Given the description of an element on the screen output the (x, y) to click on. 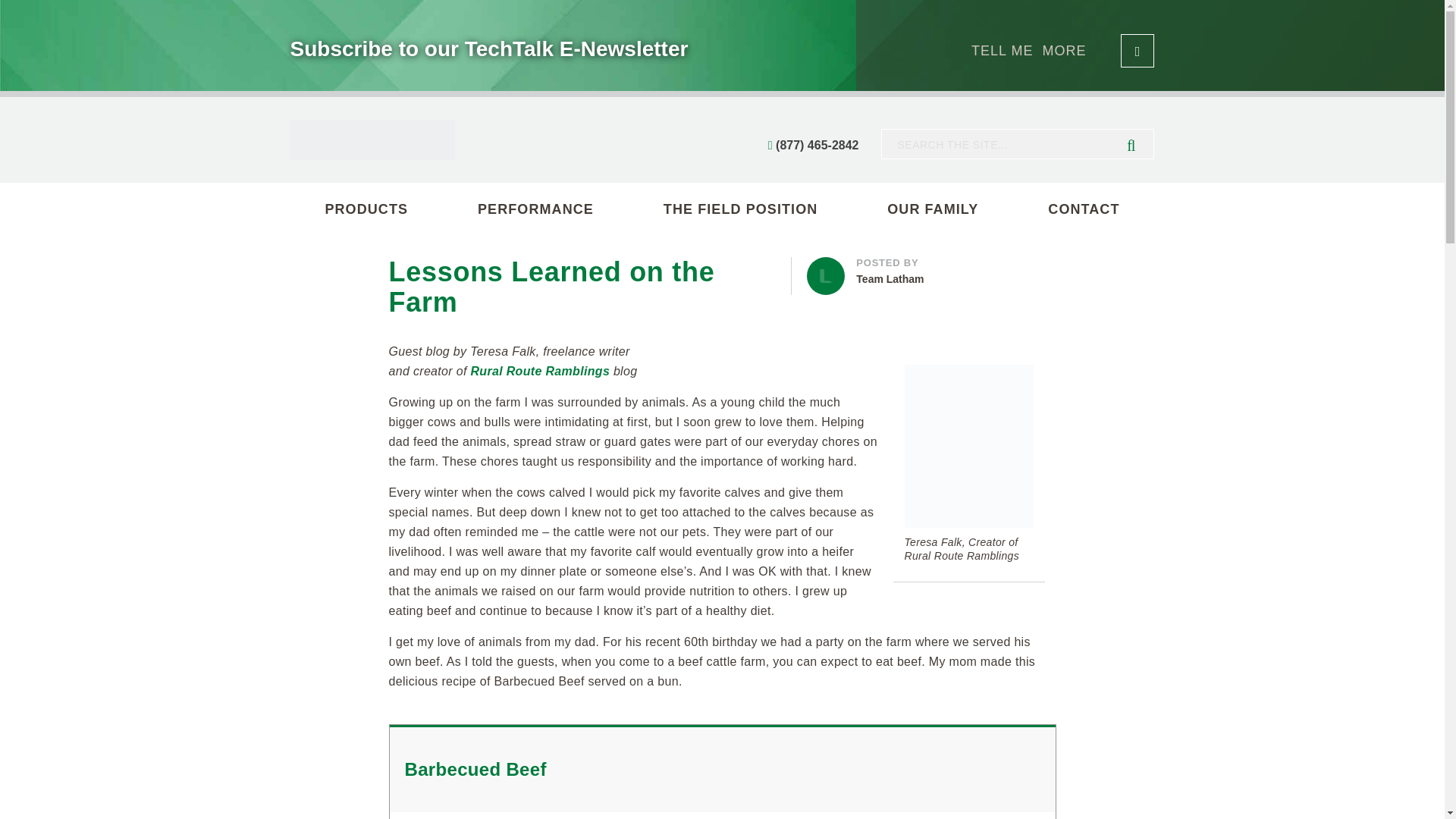
THE FIELD POSITION (930, 271)
PERFORMANCE (739, 209)
PRODUCTS (535, 209)
OUR FAMILY (365, 209)
Rural Route Ramblings (932, 209)
CONTACT (540, 370)
TELL ME  MORE (1083, 209)
